Given the description of an element on the screen output the (x, y) to click on. 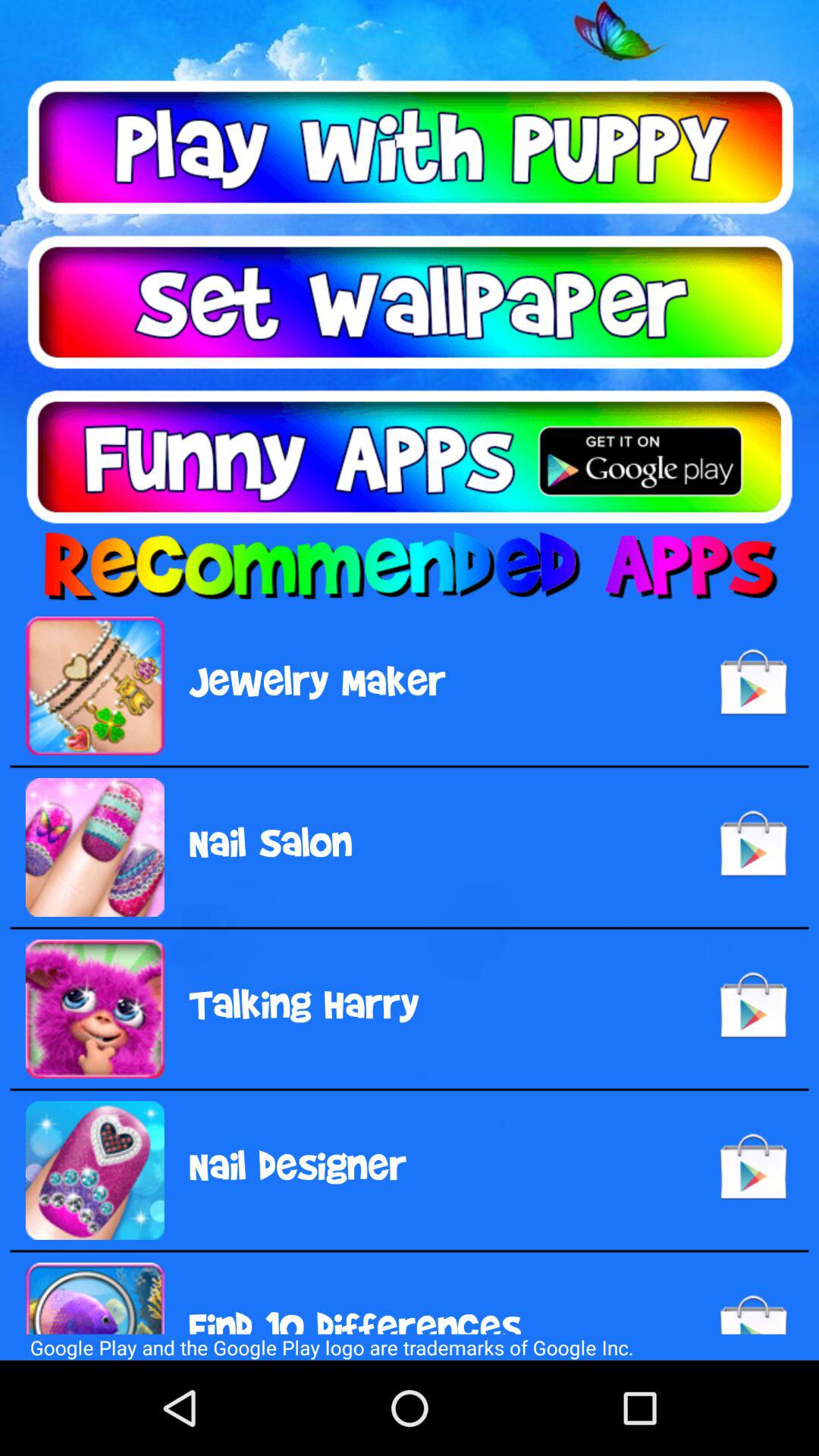
click to download app (409, 456)
